Given the description of an element on the screen output the (x, y) to click on. 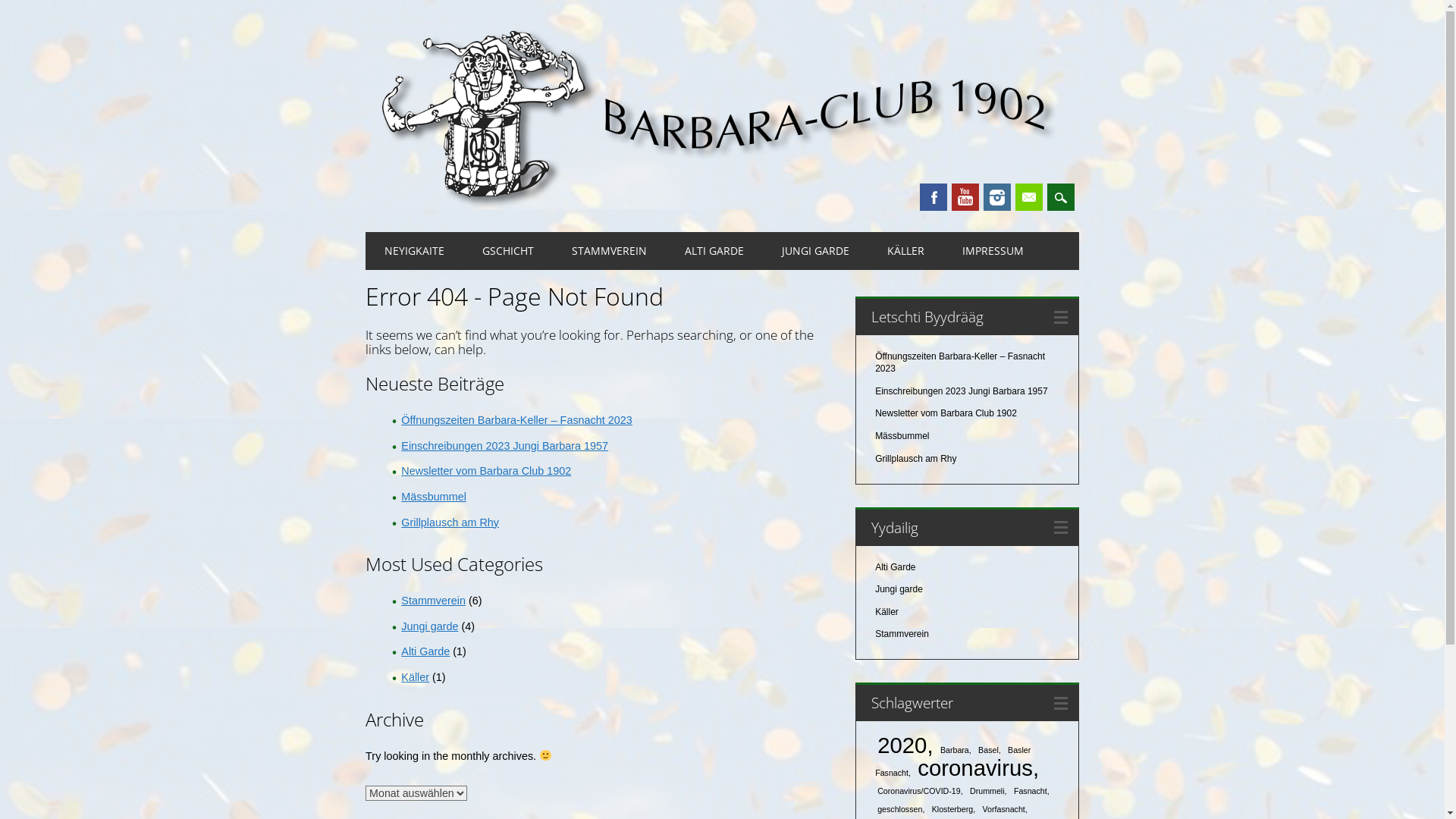
Grillplausch am Rhy Element type: text (449, 522)
Einschreibungen 2023 Jungi Barbara 1957 Element type: text (961, 390)
Instagram Element type: text (996, 196)
Jungi garde Element type: text (429, 626)
Email Element type: text (1028, 196)
Alti Garde Element type: text (895, 566)
Coronavirus/COVID-19 Element type: text (920, 790)
JUNGI GARDE Element type: text (815, 250)
IMPRESSUM Element type: text (992, 250)
GSCHICHT Element type: text (507, 250)
Grillplausch am Rhy Element type: text (915, 458)
coronavirus Element type: text (978, 767)
2020 Element type: text (905, 744)
Fasnacht Element type: text (1031, 790)
Newsletter vom Barbara Club 1902 Element type: text (486, 470)
Facebook Element type: text (933, 196)
Klosterberg Element type: text (953, 808)
Alti Garde Element type: text (425, 651)
Vorfasnacht Element type: text (1004, 808)
Youtube Element type: text (965, 196)
Barbara Element type: text (955, 749)
Barbara-Club 1902 Element type: hover (721, 203)
geschlossen Element type: text (900, 808)
Basel Element type: text (989, 749)
Stammverein Element type: text (433, 600)
STAMMVEREIN Element type: text (608, 250)
Newsletter vom Barbara Club 1902 Element type: text (945, 412)
Jungi garde Element type: text (898, 588)
Stammverein Element type: text (901, 633)
Basler Fasnacht Element type: text (952, 761)
Drummeli Element type: text (988, 790)
Einschreibungen 2023 Jungi Barbara 1957 Element type: text (504, 445)
ALTI GARDE Element type: text (713, 250)
NEYIGKAITE Element type: text (414, 250)
